Given the description of an element on the screen output the (x, y) to click on. 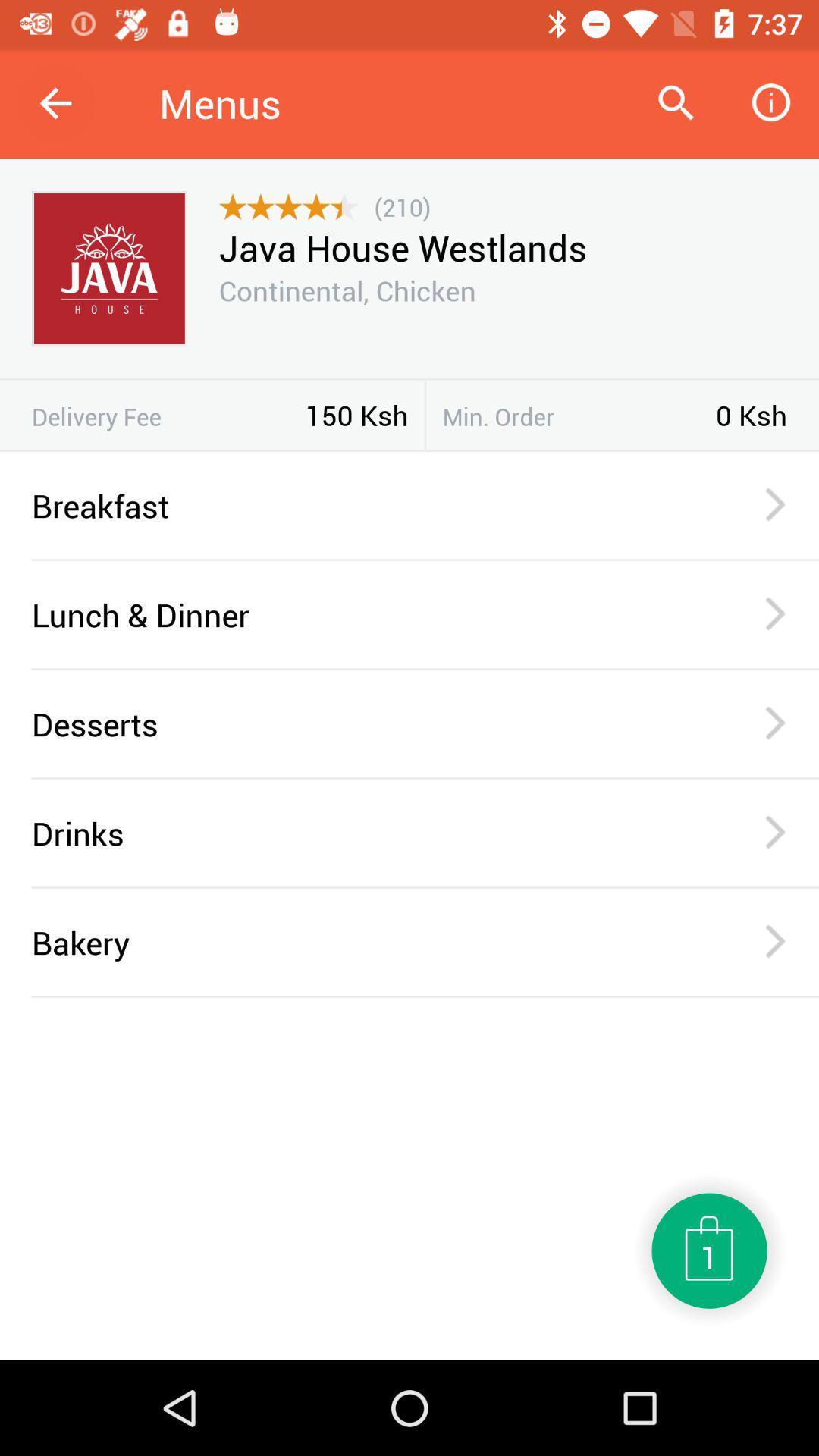
open icon below the drinks icon (425, 887)
